Given the description of an element on the screen output the (x, y) to click on. 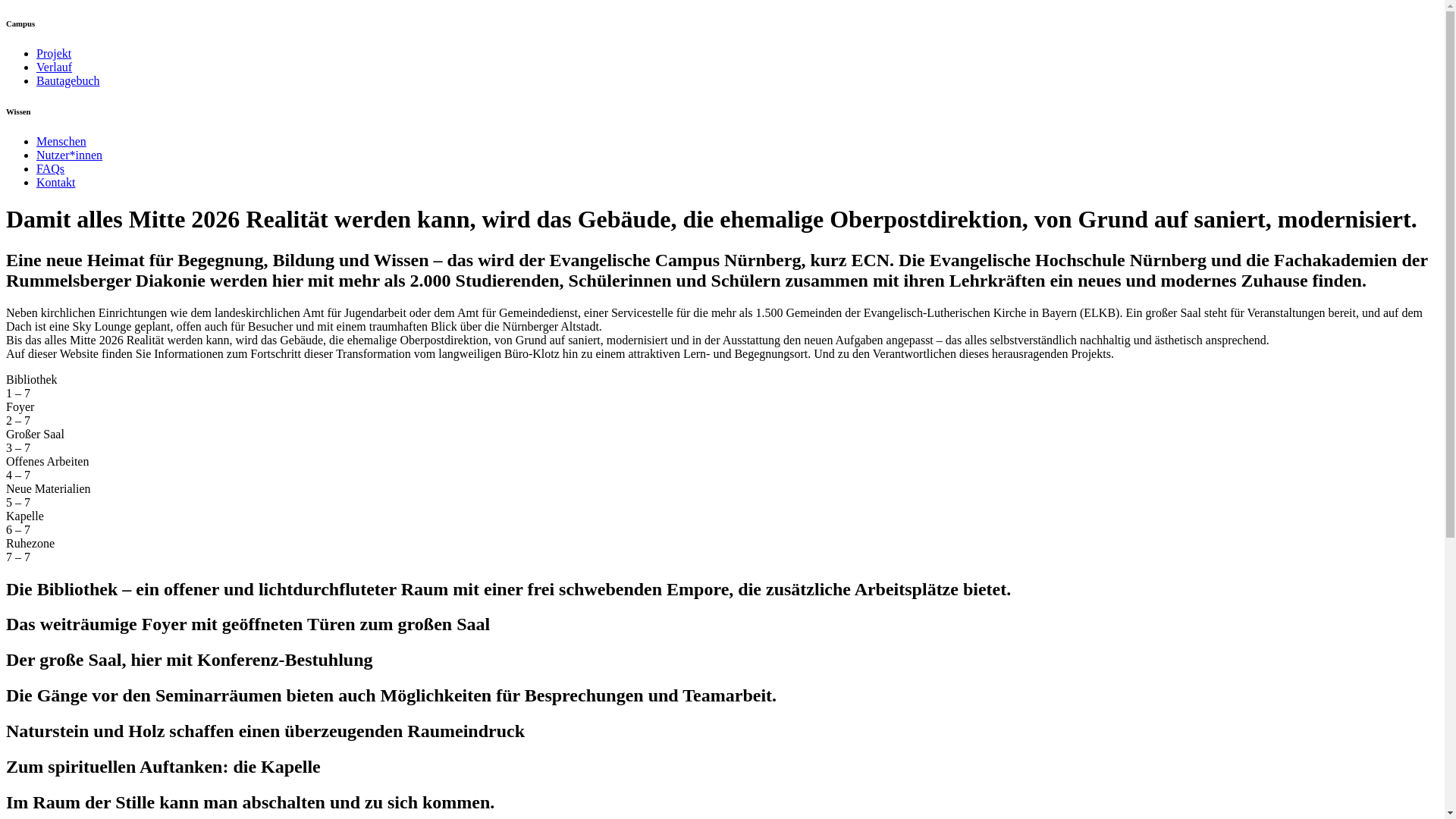
Menschen Element type: text (61, 140)
Nutzer*innen Element type: text (69, 154)
Bautagebuch Element type: text (68, 80)
Projekt Element type: text (53, 53)
FAQs Element type: text (50, 168)
Verlauf Element type: text (54, 66)
Kontakt Element type: text (55, 181)
